Given the description of an element on the screen output the (x, y) to click on. 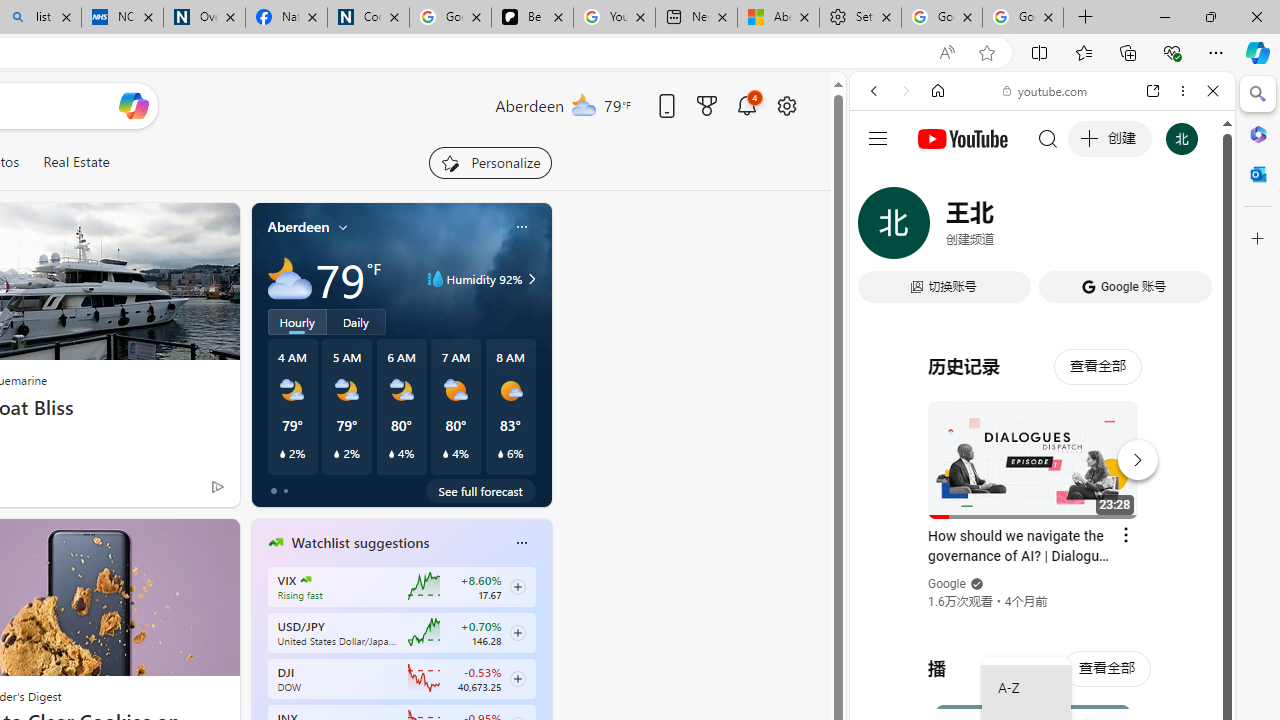
next (541, 670)
A-Z (1026, 688)
Daily (356, 321)
Humidity 92% (529, 278)
